Given the description of an element on the screen output the (x, y) to click on. 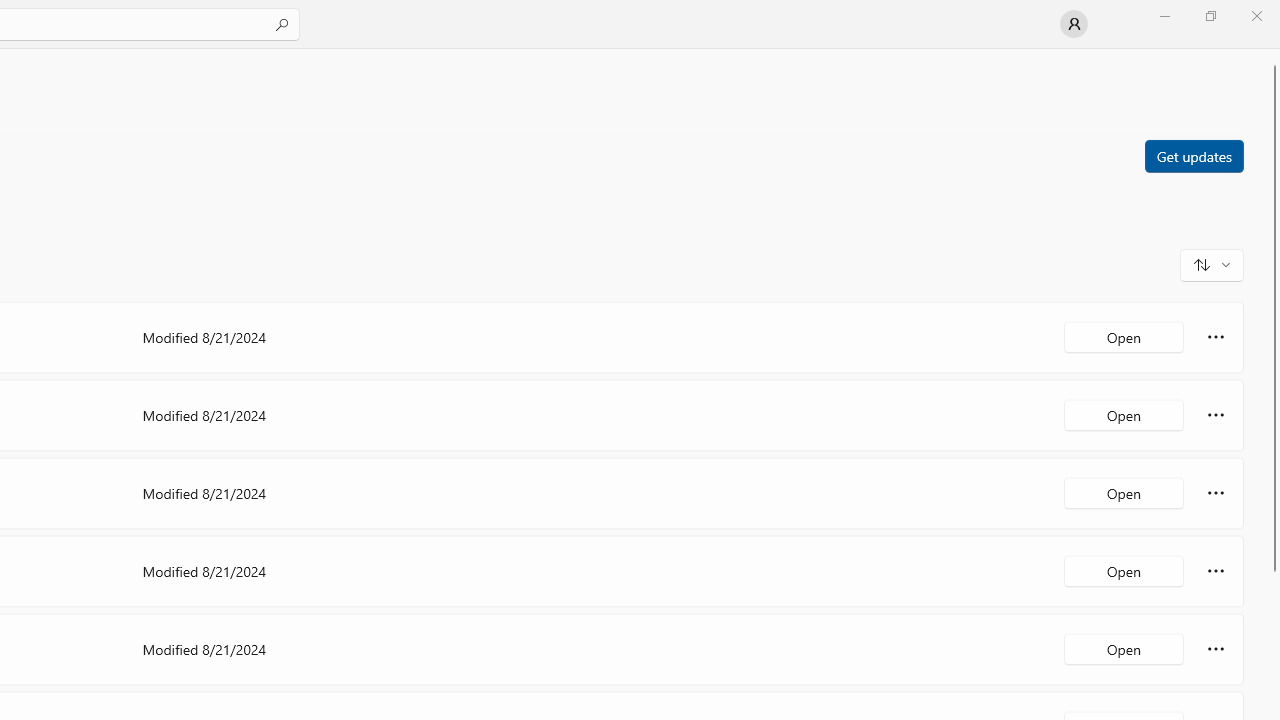
Get updates (1193, 155)
Close Microsoft Store (1256, 15)
Sort and filter (1212, 263)
Vertical Small Decrease (1272, 55)
More options (1215, 648)
Open (1123, 648)
Minimize Microsoft Store (1164, 15)
User profile (1073, 24)
Restore Microsoft Store (1210, 15)
